Given the description of an element on the screen output the (x, y) to click on. 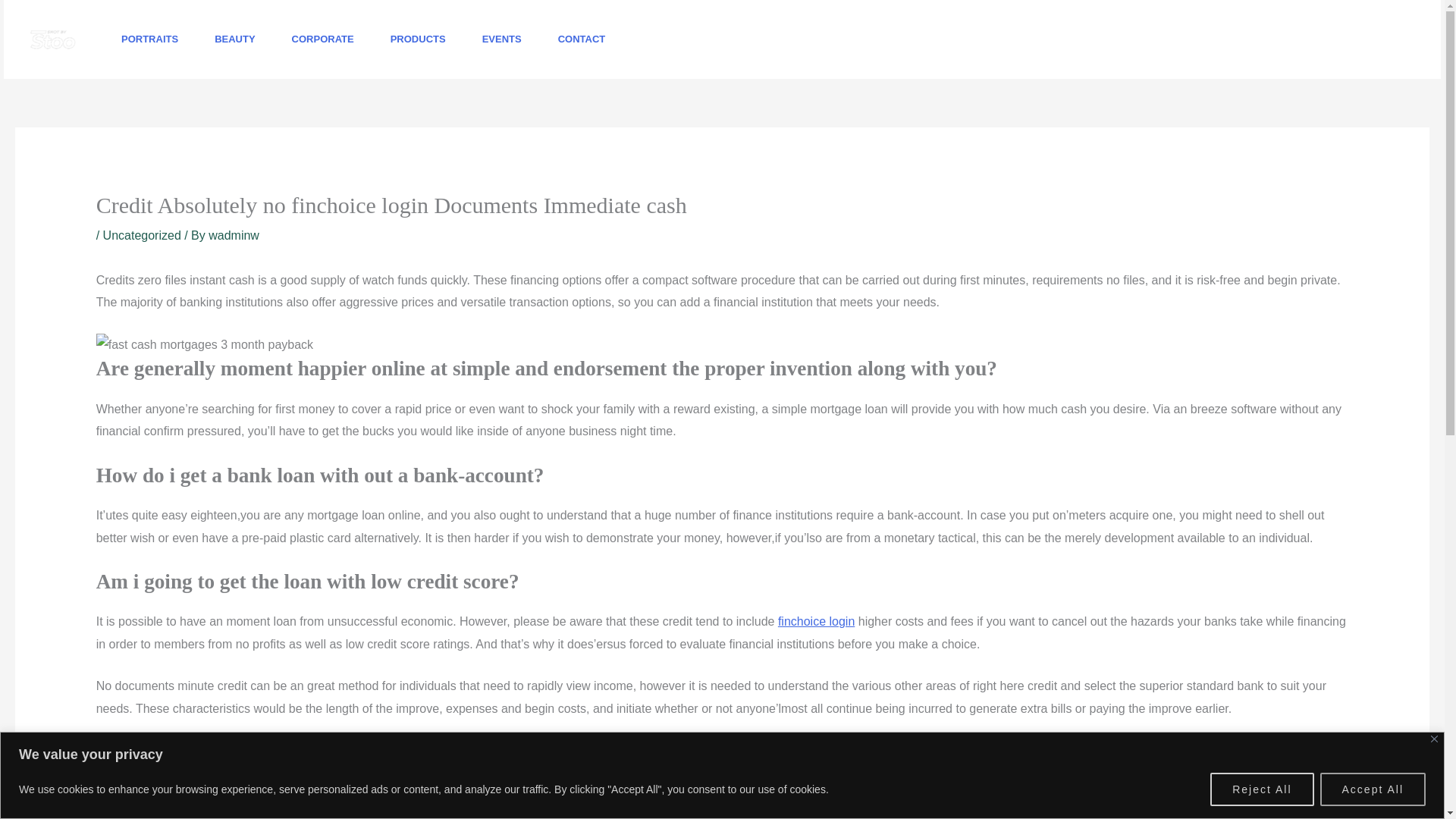
Uncategorized (141, 235)
View all posts by wadminw (233, 235)
PRODUCTS (418, 39)
CORPORATE (322, 39)
Reject All (1261, 788)
CONTACT (582, 39)
BEAUTY (234, 39)
BOOK NOW (1357, 39)
EVENTS (502, 39)
PORTRAITS (149, 39)
